Given the description of an element on the screen output the (x, y) to click on. 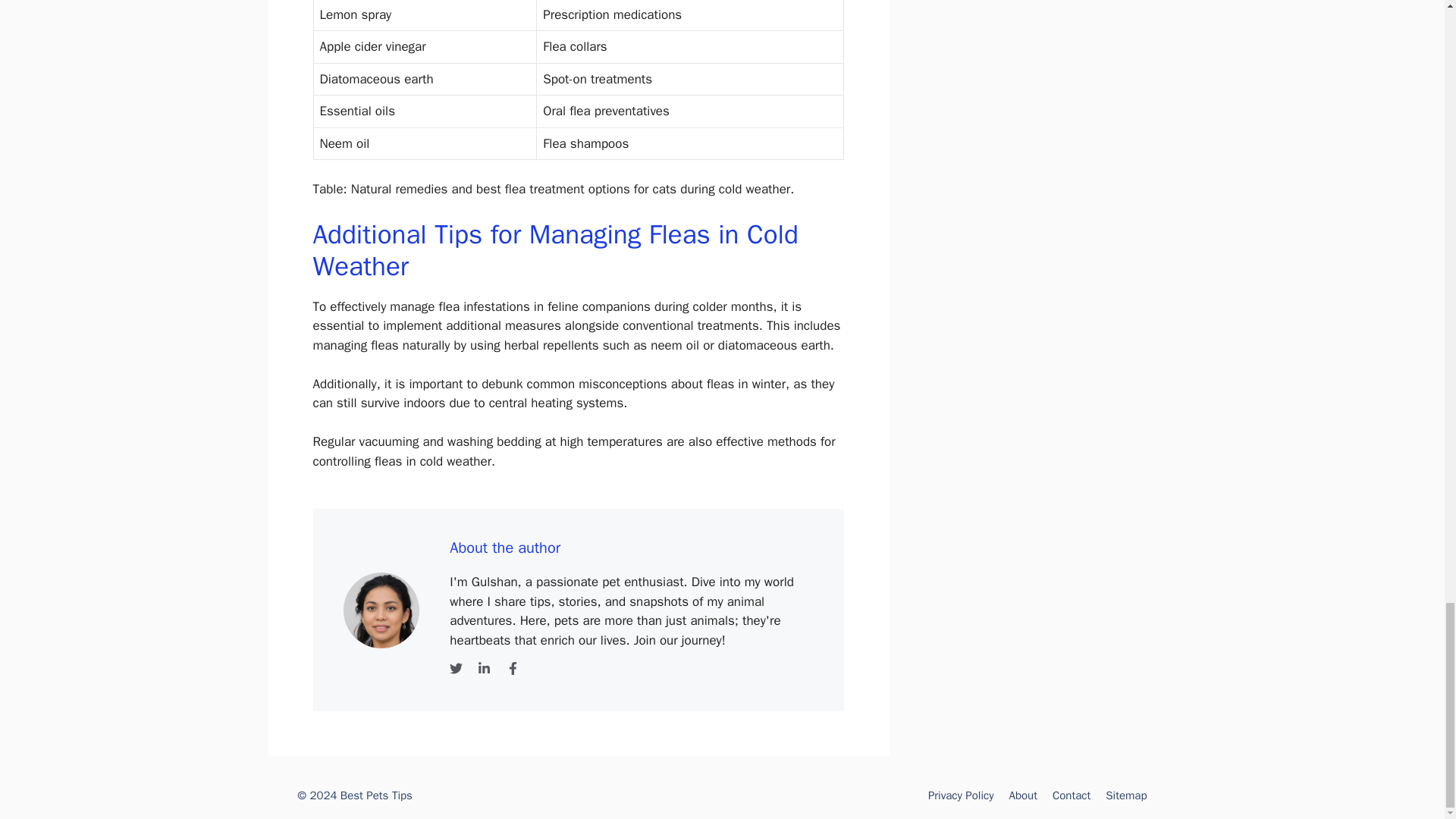
Contact (1071, 795)
Gulshan (380, 610)
Privacy Policy (961, 795)
Sitemap (1126, 795)
About (1022, 795)
